Given the description of an element on the screen output the (x, y) to click on. 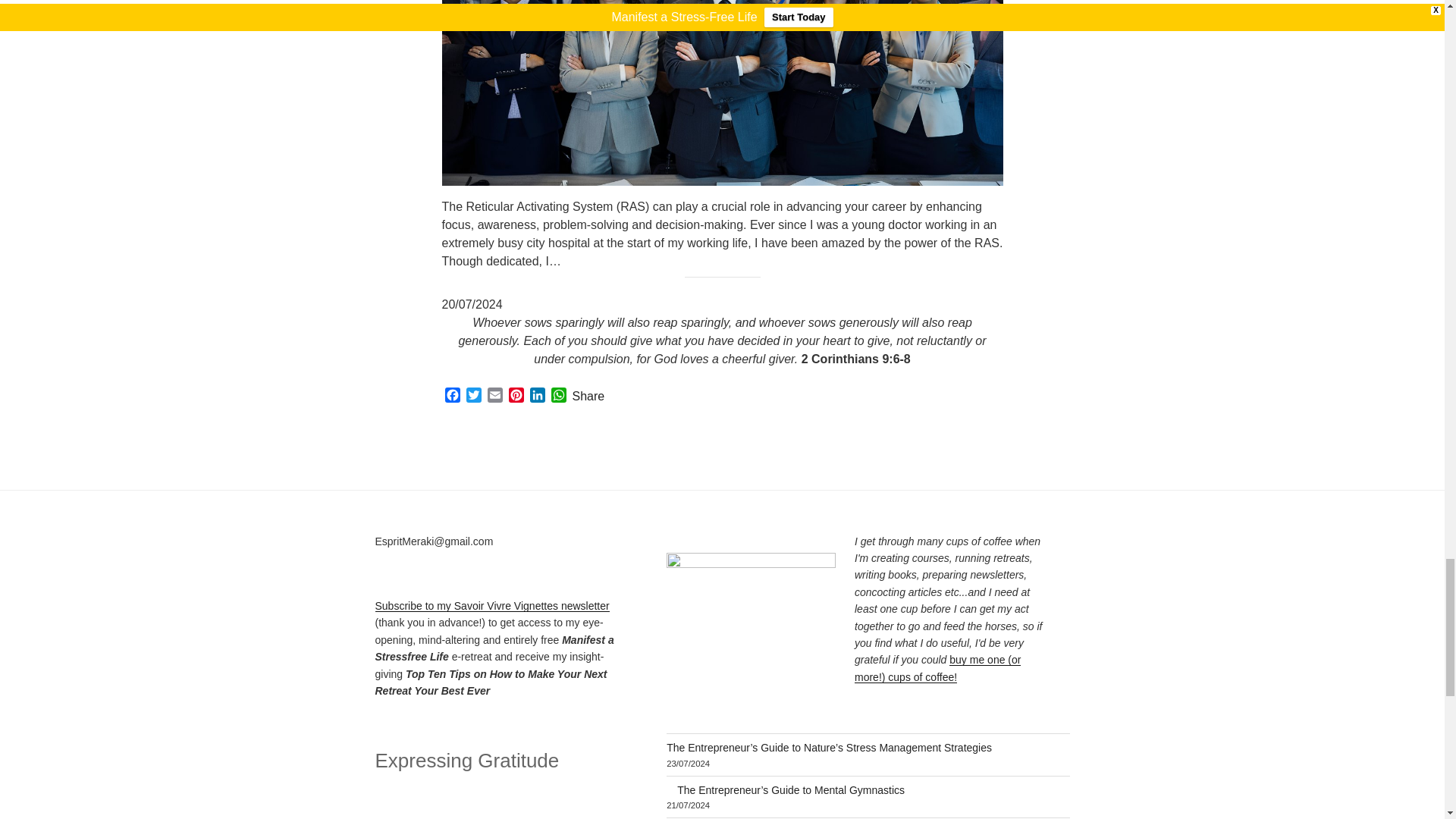
Twitter (473, 396)
WhatsApp (558, 396)
Pinterest (515, 396)
Facebook (452, 396)
LinkedIn (536, 396)
Email (494, 396)
Facebook (452, 396)
